Given the description of an element on the screen output the (x, y) to click on. 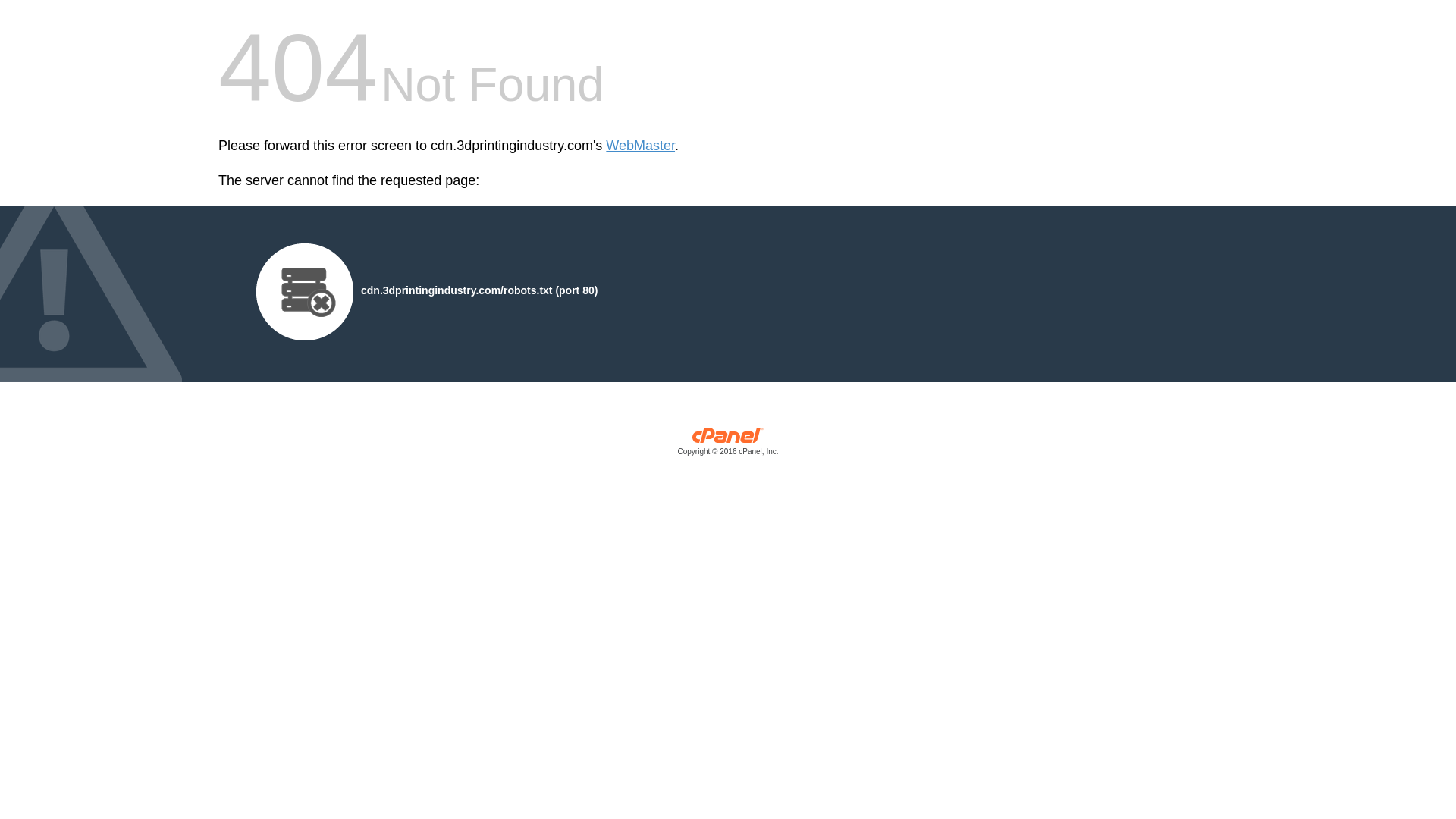
WebMaster Element type: text (639, 145)
